Given the description of an element on the screen output the (x, y) to click on. 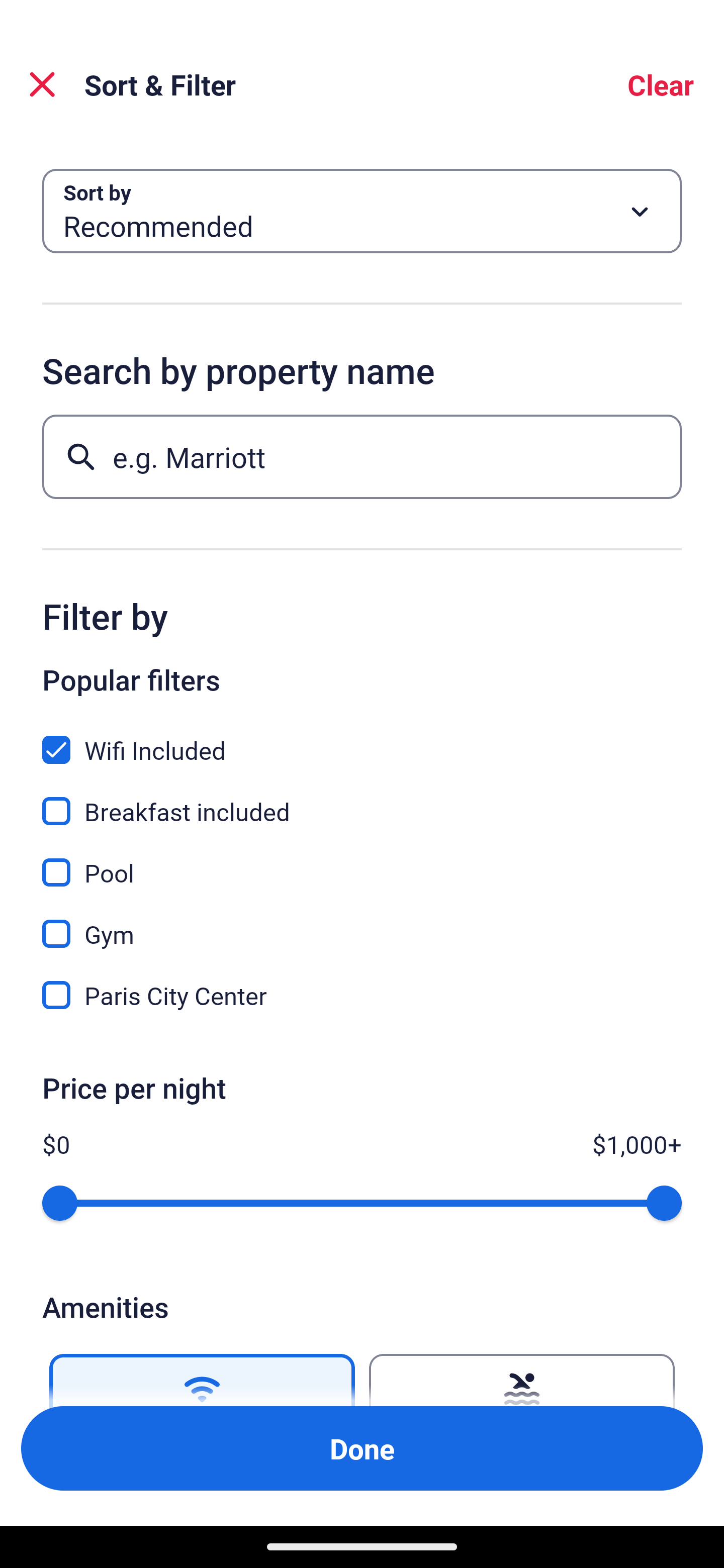
Close Sort and Filter (42, 84)
Clear (660, 84)
Sort by Button Recommended (361, 211)
e.g. Marriott Button (361, 455)
Wifi Included, Wifi Included (361, 738)
Breakfast included, Breakfast included (361, 800)
Pool, Pool (361, 861)
Gym, Gym (361, 922)
Paris City Center, Paris City Center (361, 995)
Apply and close Sort and Filter Done (361, 1448)
